Given the description of an element on the screen output the (x, y) to click on. 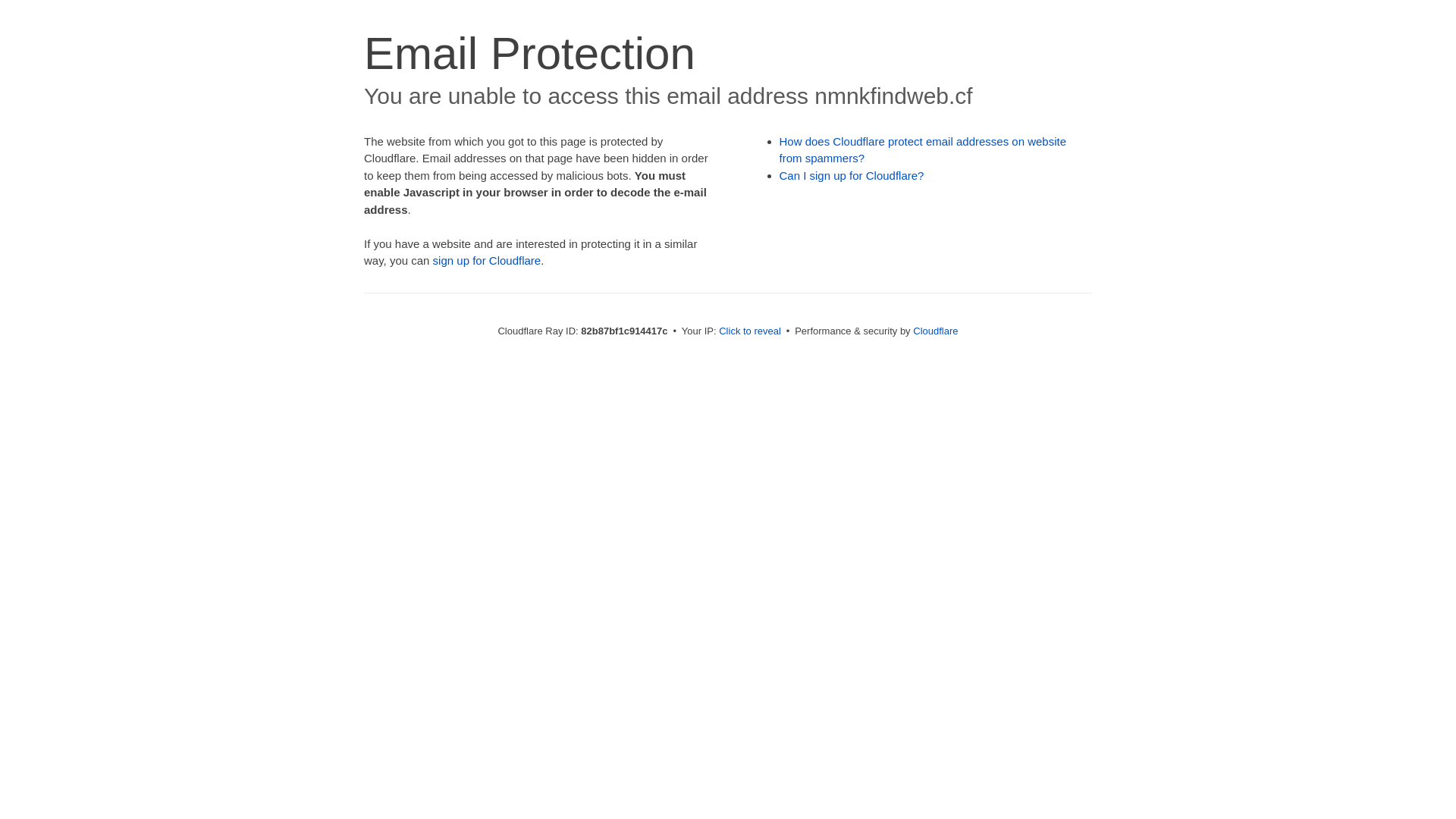
Cloudflare Element type: text (935, 330)
Can I sign up for Cloudflare? Element type: text (851, 175)
Click to reveal Element type: text (749, 330)
sign up for Cloudflare Element type: text (487, 260)
